Given the description of an element on the screen output the (x, y) to click on. 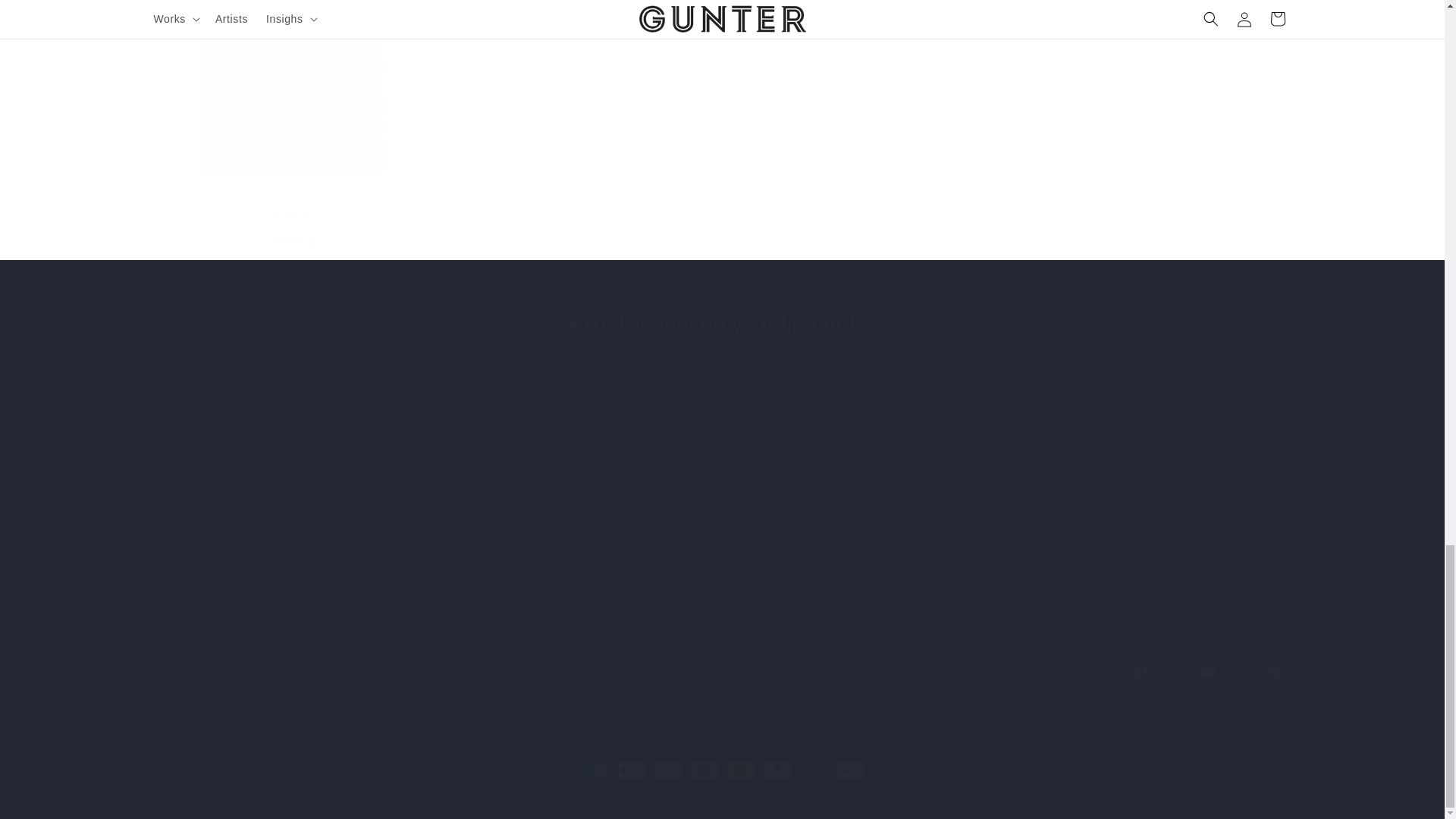
Subscribe to our newsletter (722, 581)
Email (722, 363)
